Given the description of an element on the screen output the (x, y) to click on. 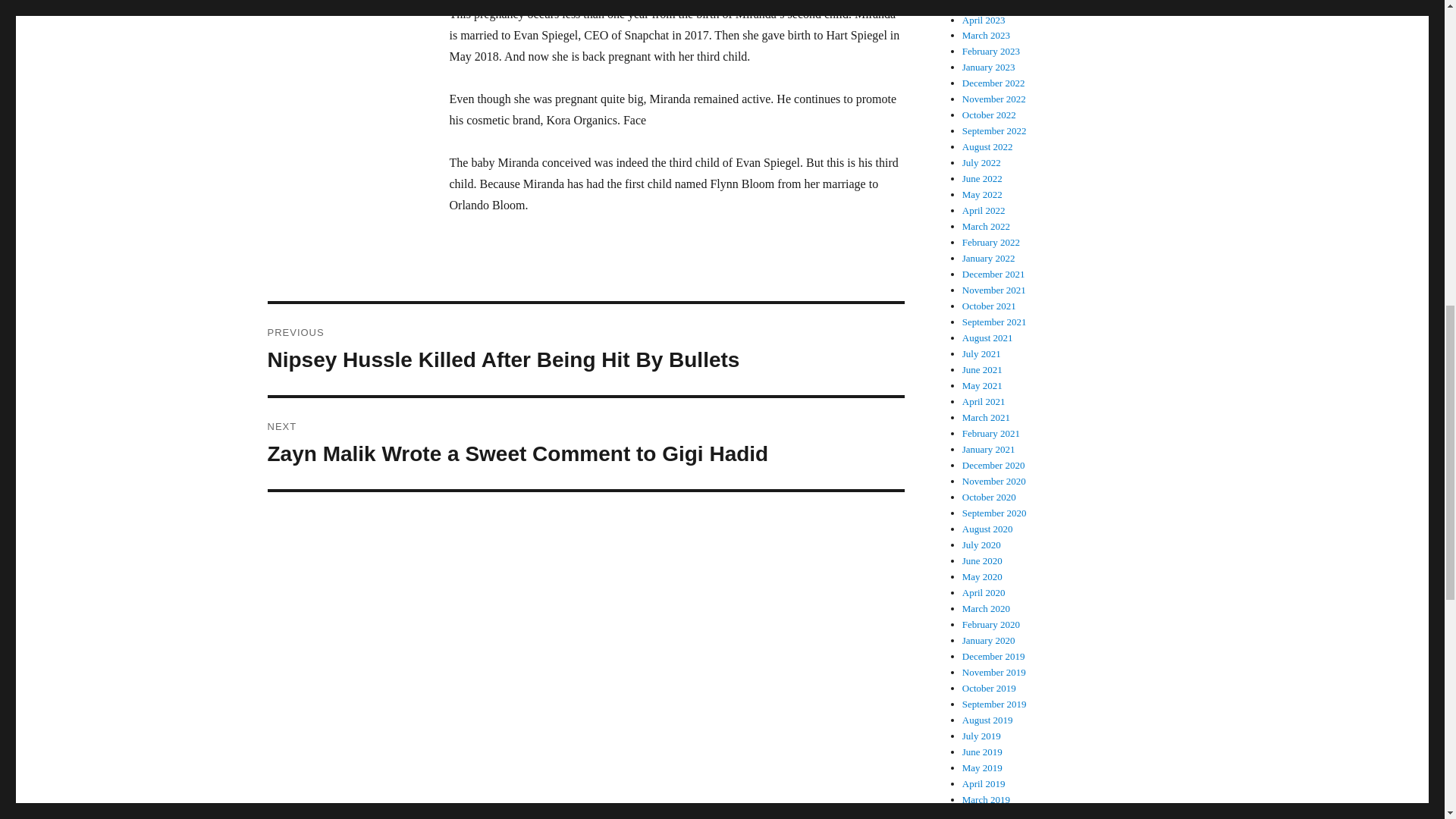
May 2023 (982, 4)
March 2023 (986, 34)
April 2023 (984, 19)
February 2023 (991, 50)
